Given the description of an element on the screen output the (x, y) to click on. 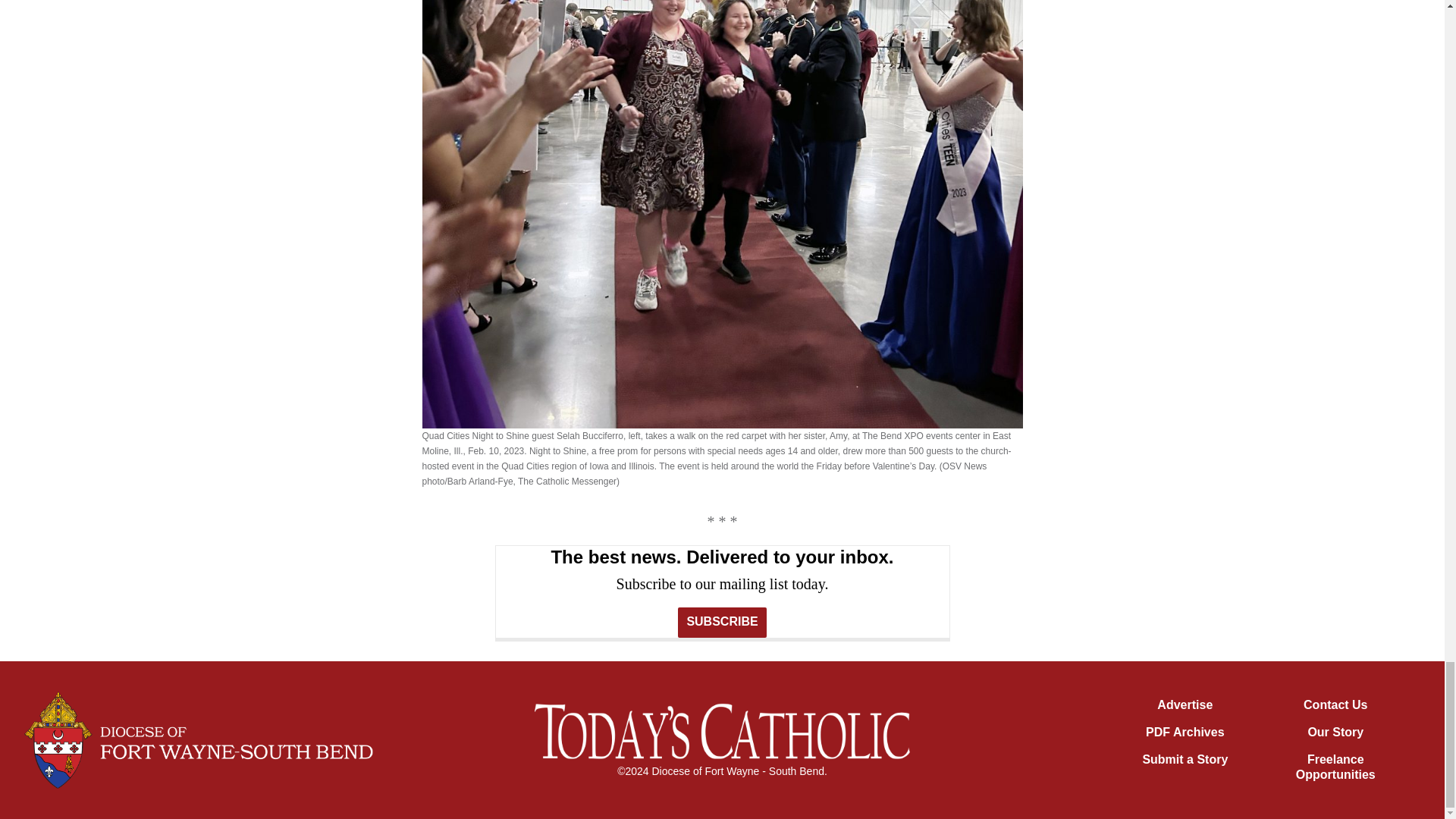
PDF Archives (1184, 731)
Contact Us (1335, 704)
Freelance Opportunities (1335, 766)
Submit a Story (1184, 758)
Advertise (1184, 704)
SUBSCRIBE (722, 622)
Our Story (1334, 731)
